Given the description of an element on the screen output the (x, y) to click on. 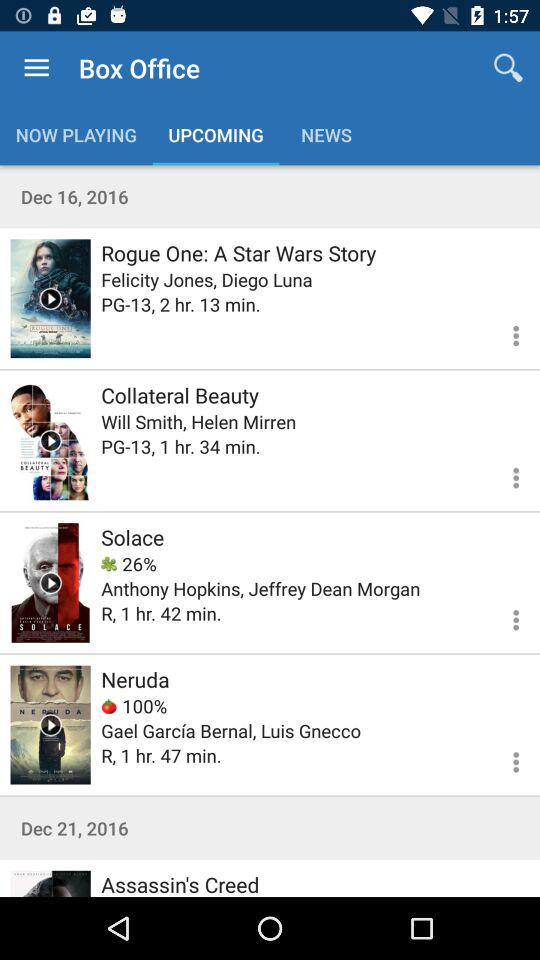
more options (503, 617)
